Given the description of an element on the screen output the (x, y) to click on. 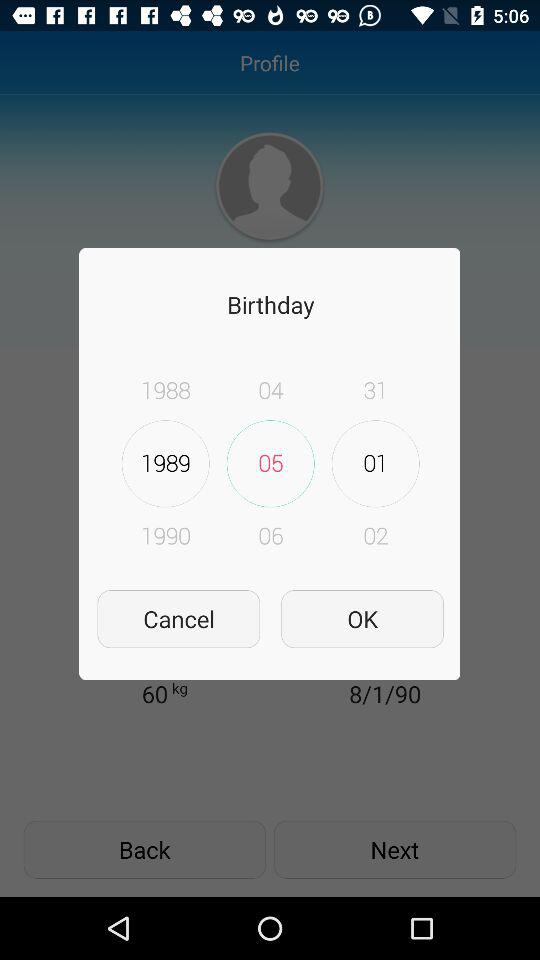
launch item next to ok item (178, 618)
